Given the description of an element on the screen output the (x, y) to click on. 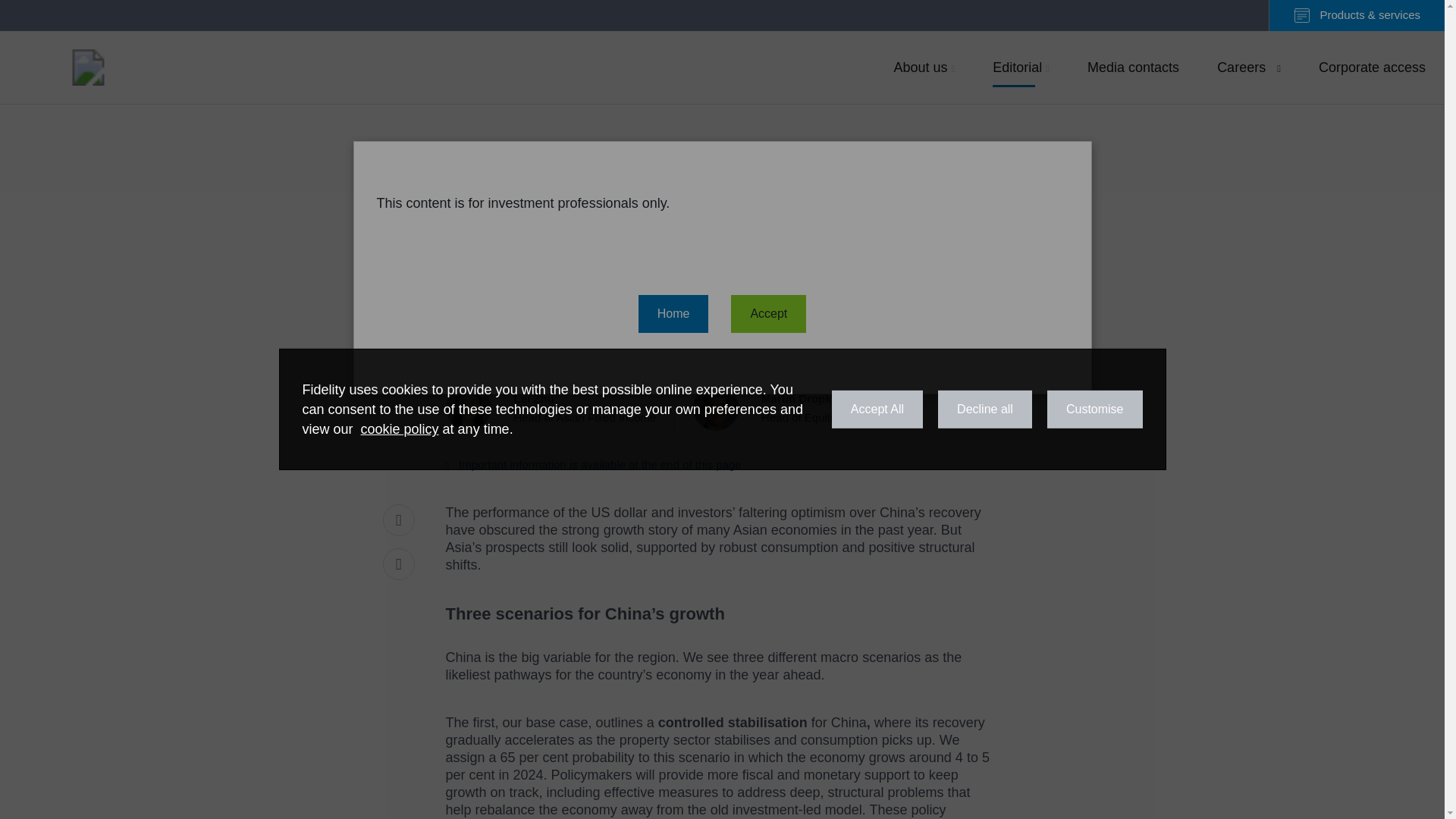
Editorial (1021, 66)
Martin Dropkin (800, 408)
Fidelity International Logo (88, 67)
Corporate access (560, 408)
About us (1372, 66)
disclaimer (924, 66)
Fidelity International Logo (593, 463)
Lei Zhu (88, 67)
